Given the description of an element on the screen output the (x, y) to click on. 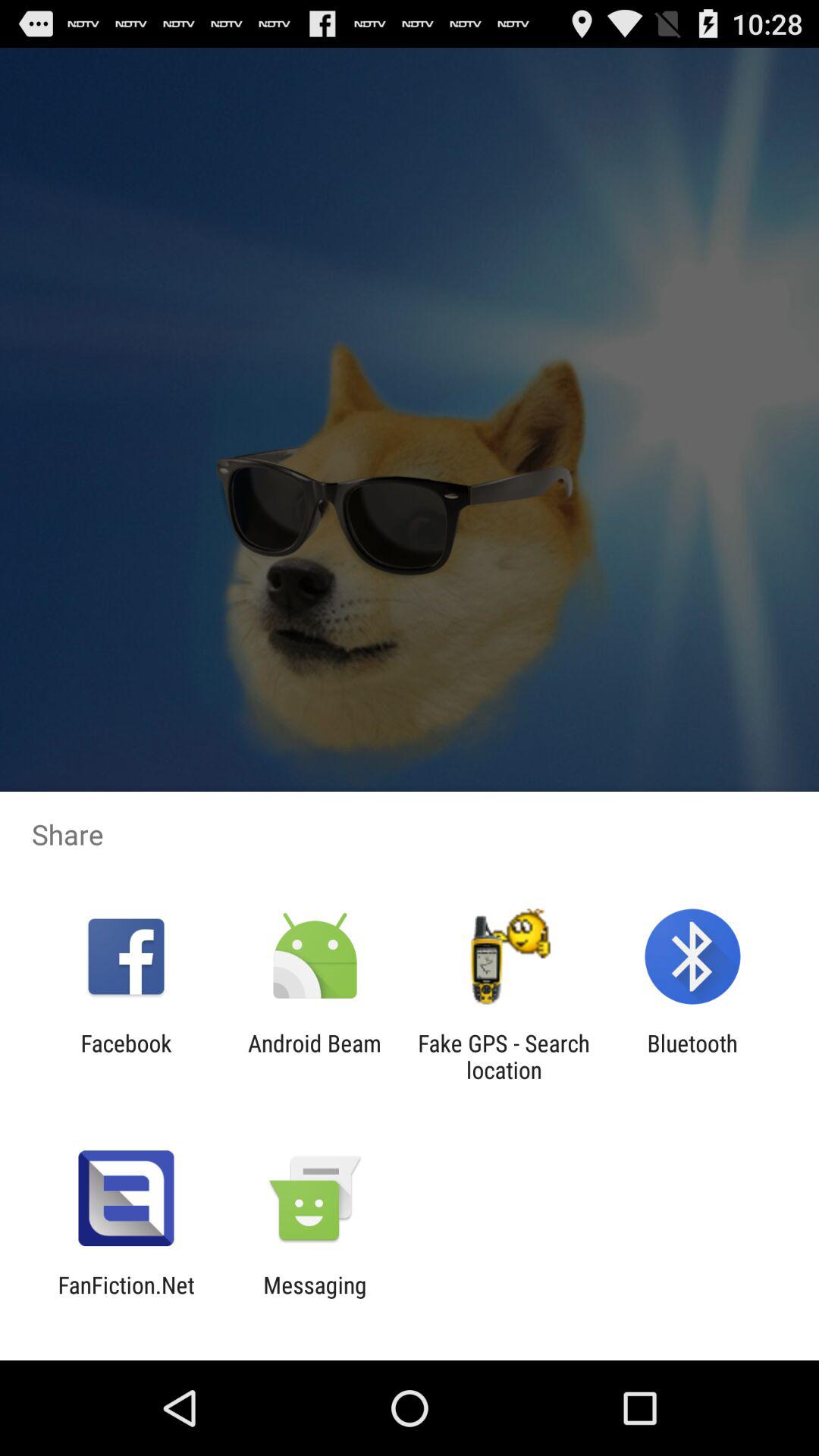
select item to the right of fake gps search app (692, 1056)
